Given the description of an element on the screen output the (x, y) to click on. 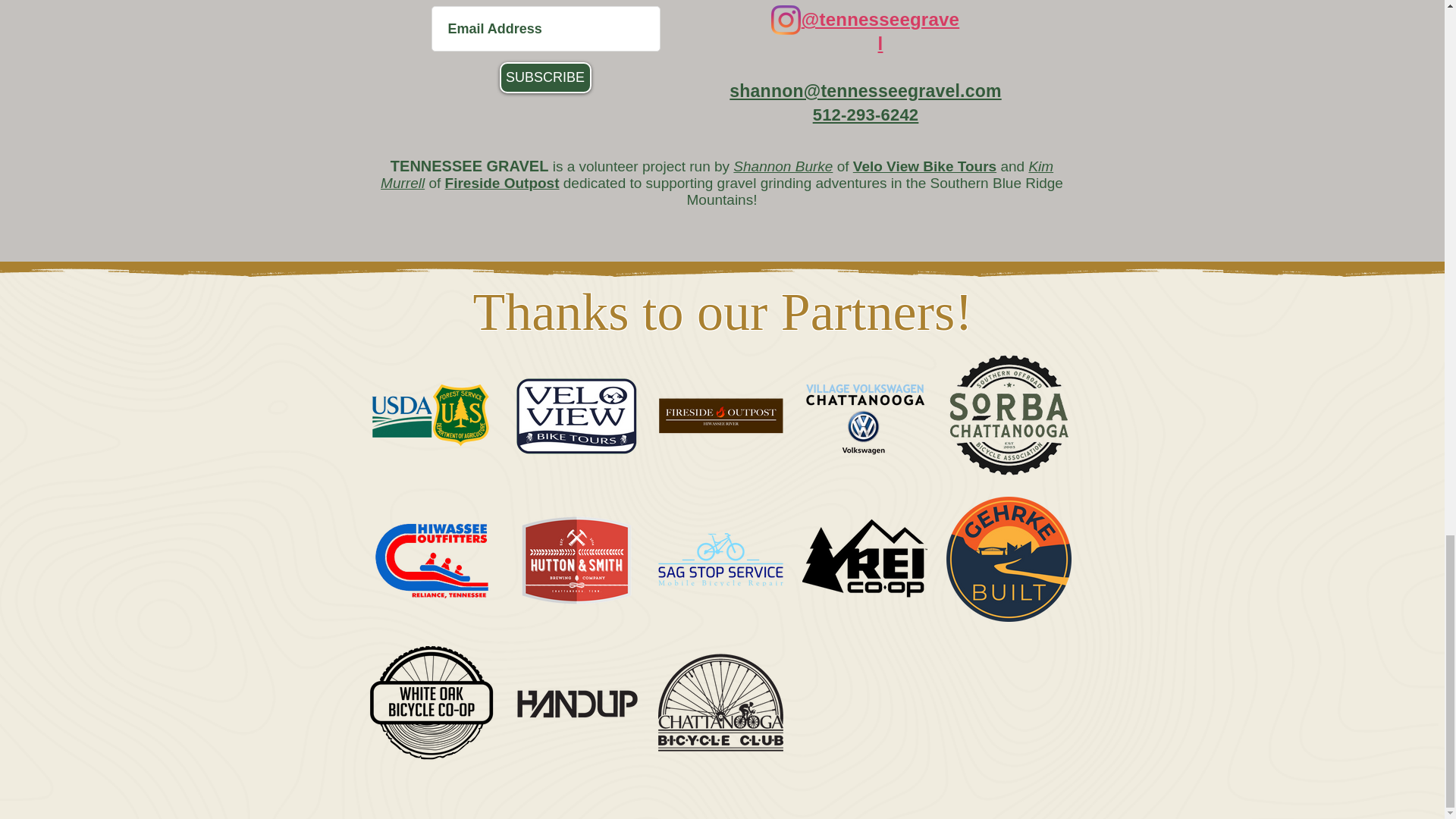
Fireside Outpost (502, 182)
Velo View Bike Tours (924, 166)
512-293-6242 (865, 114)
SUBSCRIBE (545, 77)
Kim Murrell (716, 174)
Shannon Burke (782, 166)
